Given the description of an element on the screen output the (x, y) to click on. 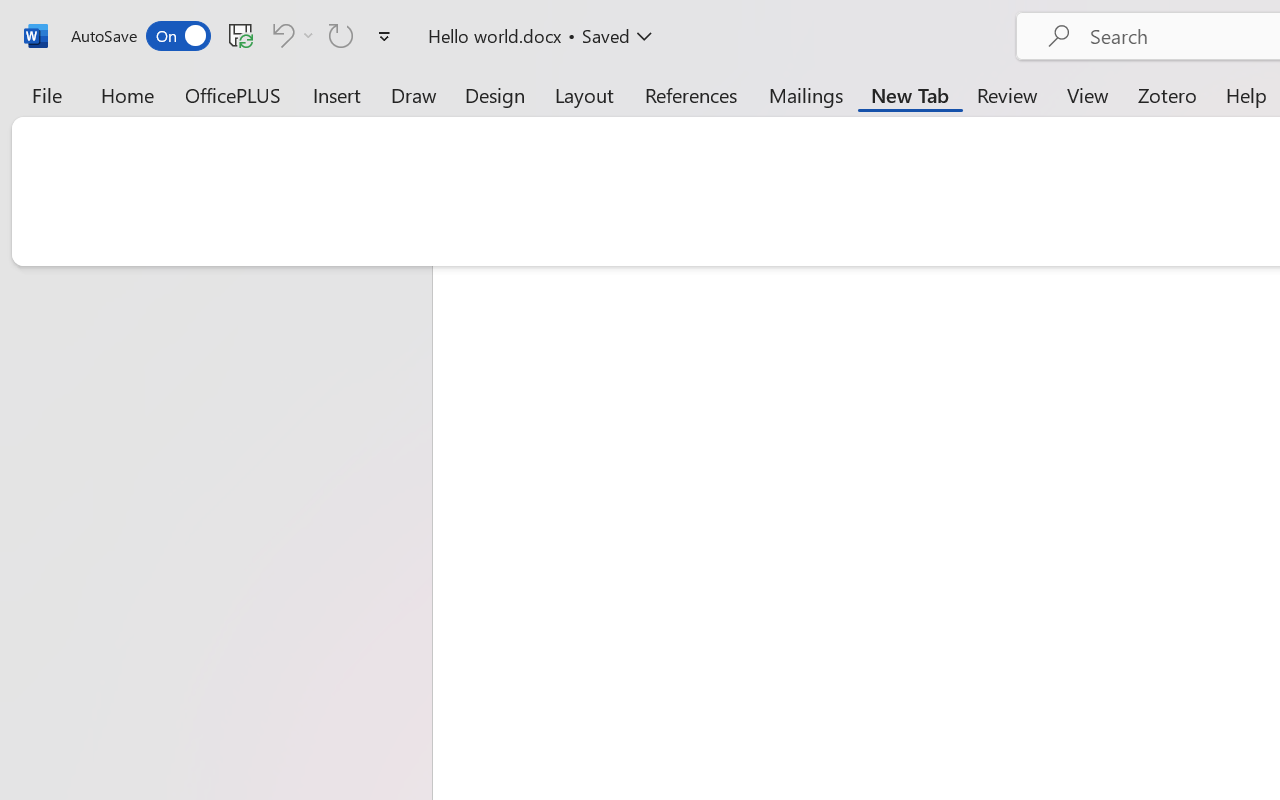
Save (241, 35)
OfficePLUS (233, 94)
Zotero (1166, 94)
Can't Undo (280, 35)
Design (495, 94)
Draw (413, 94)
Home (127, 94)
Layout (584, 94)
View (1087, 94)
More Options (308, 35)
Can't Undo (290, 35)
File Tab (46, 94)
Quick Access Toolbar (233, 36)
